Given the description of an element on the screen output the (x, y) to click on. 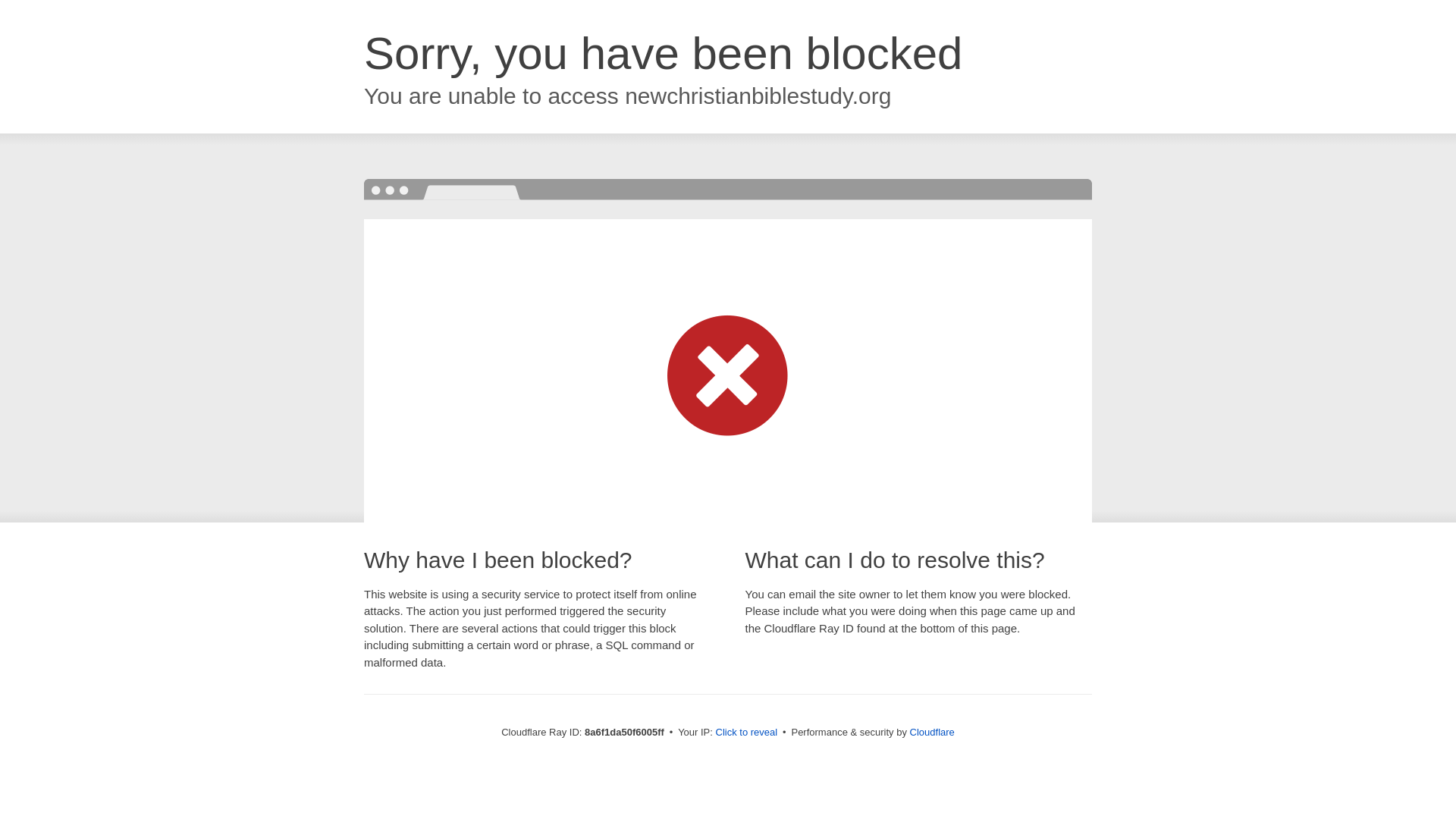
Cloudflare (932, 731)
Click to reveal (746, 732)
